Given the description of an element on the screen output the (x, y) to click on. 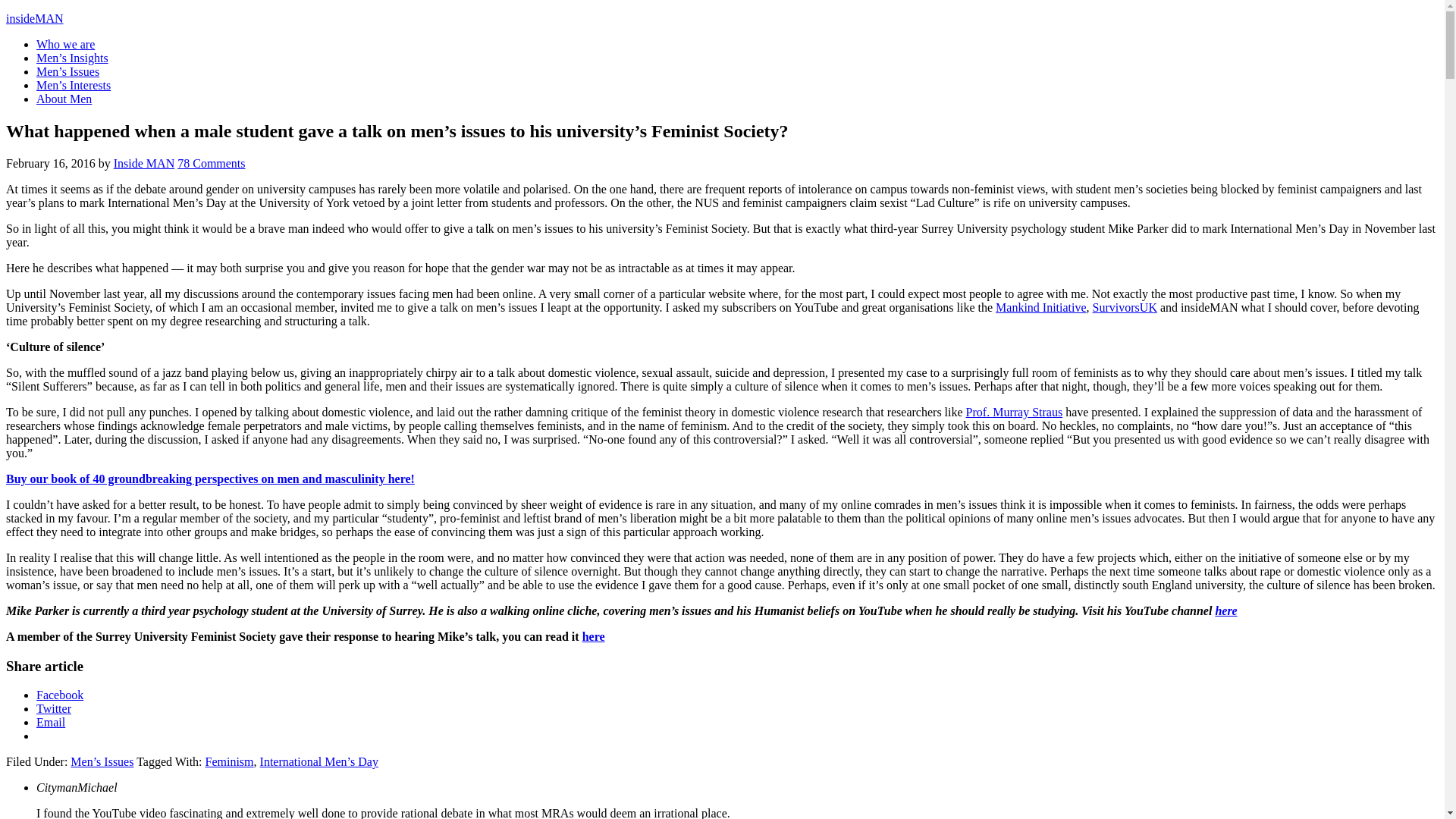
insideMAN (34, 18)
Email (50, 721)
Prof. Murray Straus (1014, 411)
Click to email this to a friend (50, 721)
Who we are (65, 43)
Click to share on Facebook (59, 694)
Facebook (59, 694)
78 Comments (210, 163)
here (1225, 610)
